Given the description of an element on the screen output the (x, y) to click on. 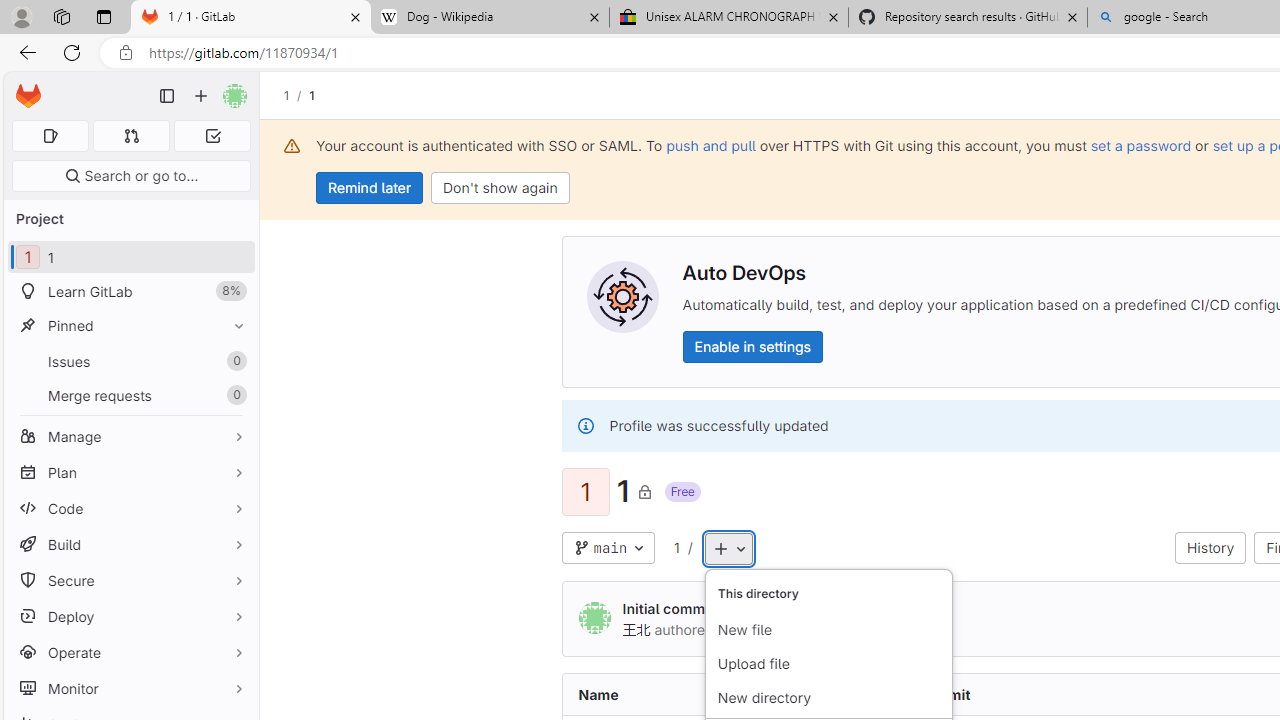
Homepage (27, 96)
New file (828, 630)
Plan (130, 471)
Code (130, 507)
Assigned issues 0 (50, 136)
Create new... (201, 96)
1 (676, 548)
Class: s16 icon (644, 491)
11 (130, 257)
Deploy (130, 615)
Learn GitLab 8% (130, 291)
Merge requests0 (130, 394)
Build (130, 543)
